Given the description of an element on the screen output the (x, y) to click on. 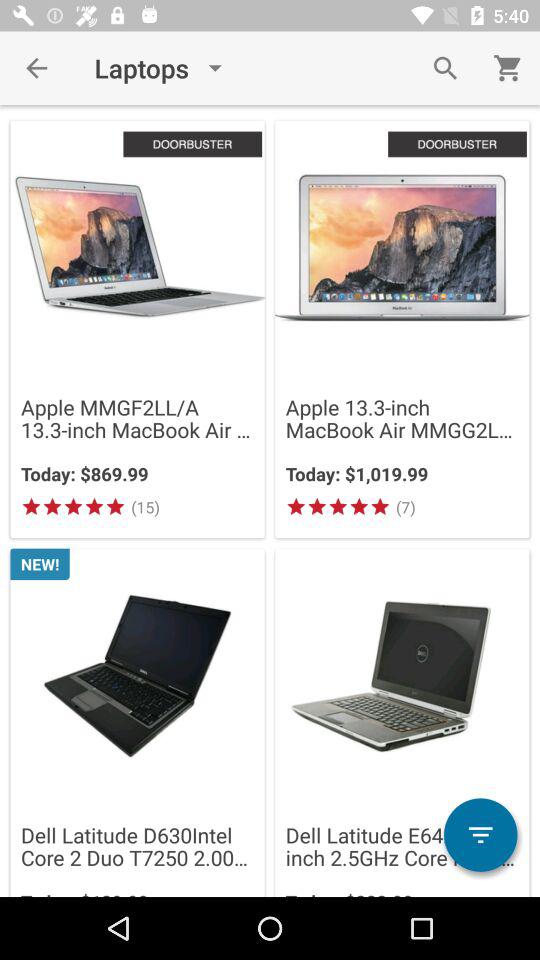
click on filter icon (480, 834)
select theimage which is on the top right corner (401, 328)
click on image of first product (137, 247)
select the image which is on the top right corner (401, 247)
select the top right text of second image (457, 144)
click on the blue button which is at the right bottom of the page (479, 835)
